Given the description of an element on the screen output the (x, y) to click on. 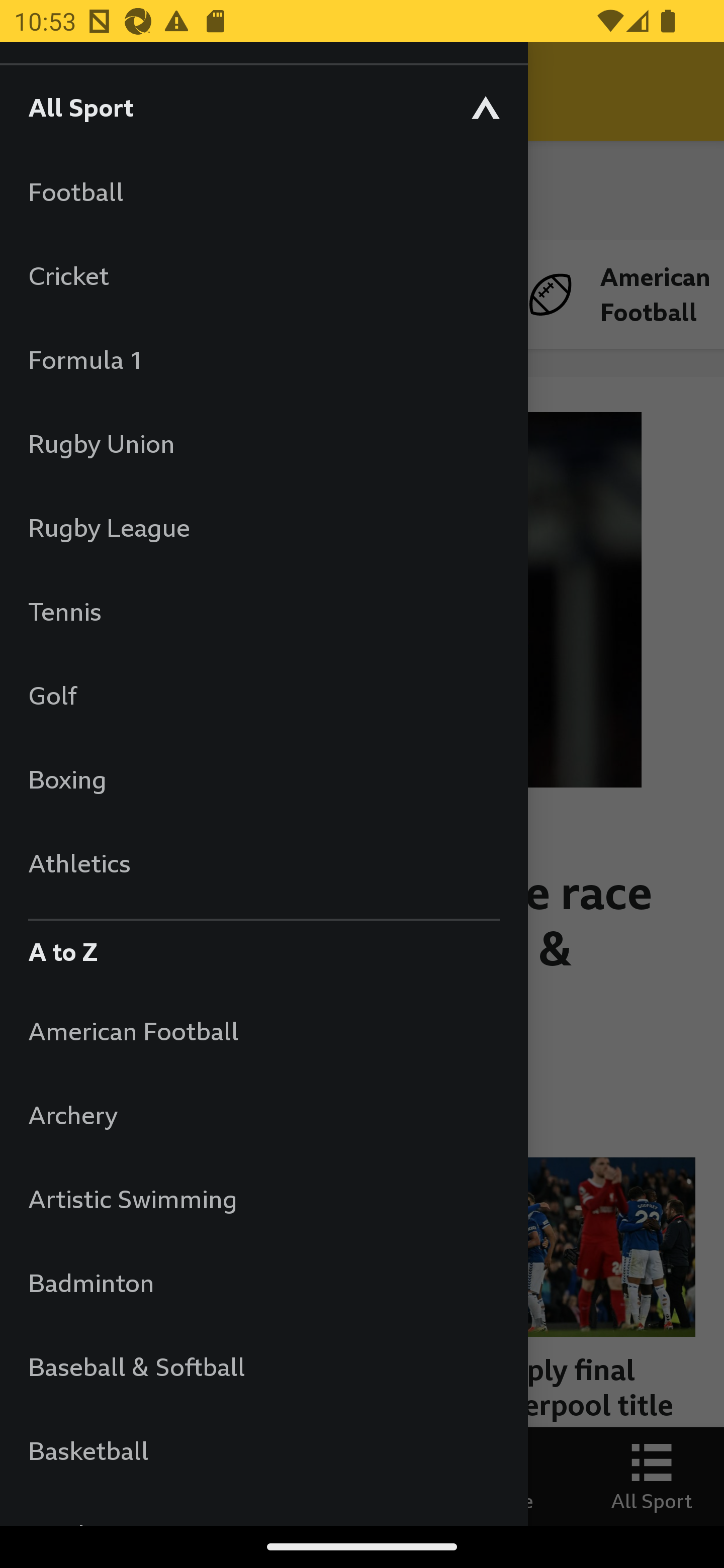
All Sport (263, 106)
Football (263, 190)
Cricket (263, 275)
Formula 1 (263, 358)
Rugby Union (263, 443)
Rugby League (263, 526)
Tennis (263, 611)
Golf (263, 694)
Boxing (263, 778)
Athletics (263, 862)
A to Z (263, 946)
American Football (263, 1029)
Archery (263, 1114)
Artistic Swimming (263, 1198)
Badminton (263, 1282)
Baseball & Softball (263, 1366)
Basketball (263, 1450)
